Given the description of an element on the screen output the (x, y) to click on. 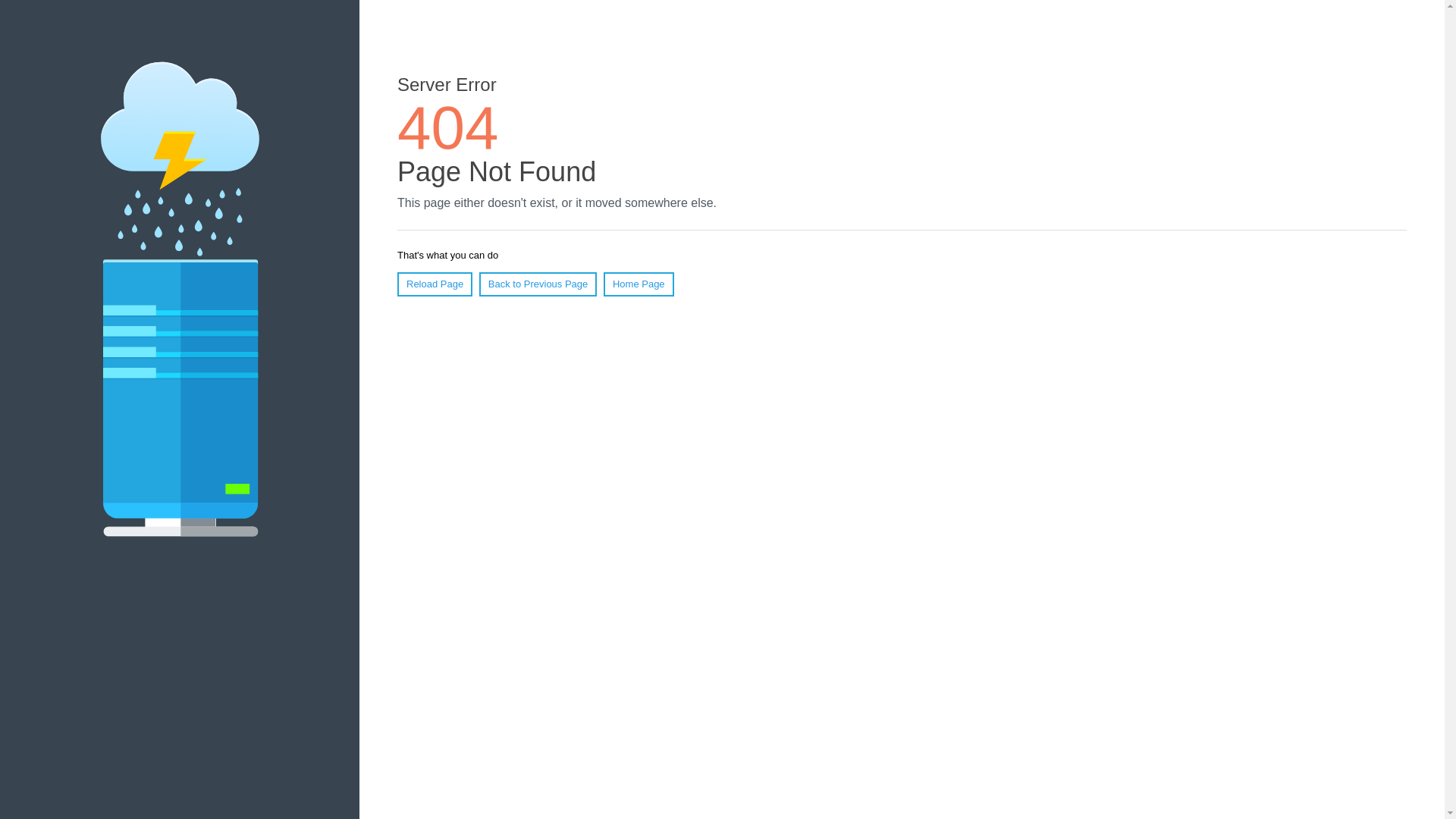
Back to Previous Page Element type: text (538, 284)
Reload Page Element type: text (434, 284)
Home Page Element type: text (638, 284)
